Given the description of an element on the screen output the (x, y) to click on. 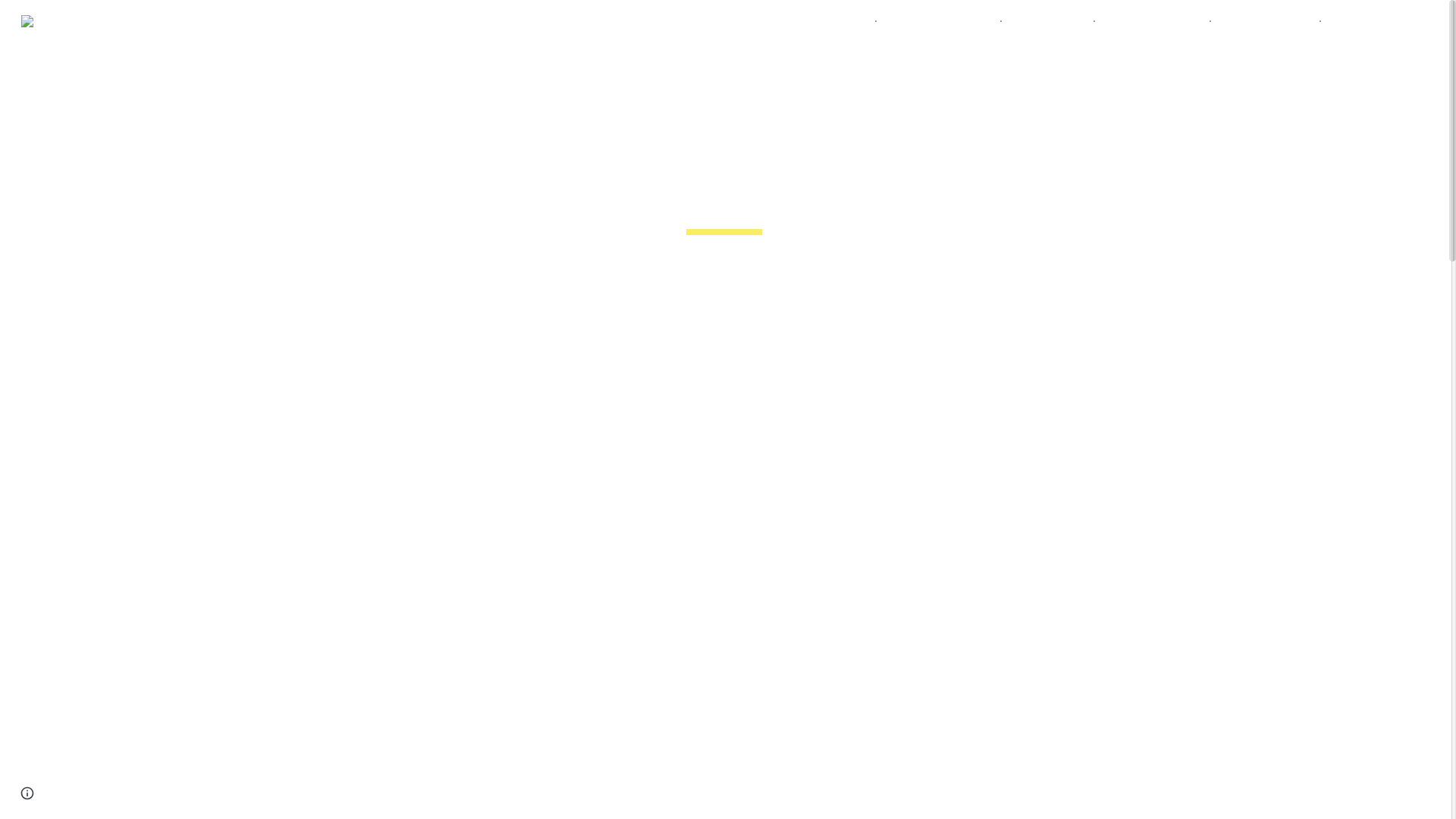
Camping Boomerang Element type: text (124, 19)
Free time Element type: text (1039, 20)
Expand/Collapse Element type: hover (984, 20)
Expand/Collapse Element type: hover (1193, 20)
Home Element type: text (847, 20)
Expand/Collapse Element type: hover (1396, 20)
Expand/Collapse Element type: hover (1303, 20)
Expand/Collapse Element type: hover (1077, 20)
MyBoomerang Element type: text (930, 20)
Information Element type: text (1257, 20)
Photo gallery Element type: text (1144, 20)
